Given the description of an element on the screen output the (x, y) to click on. 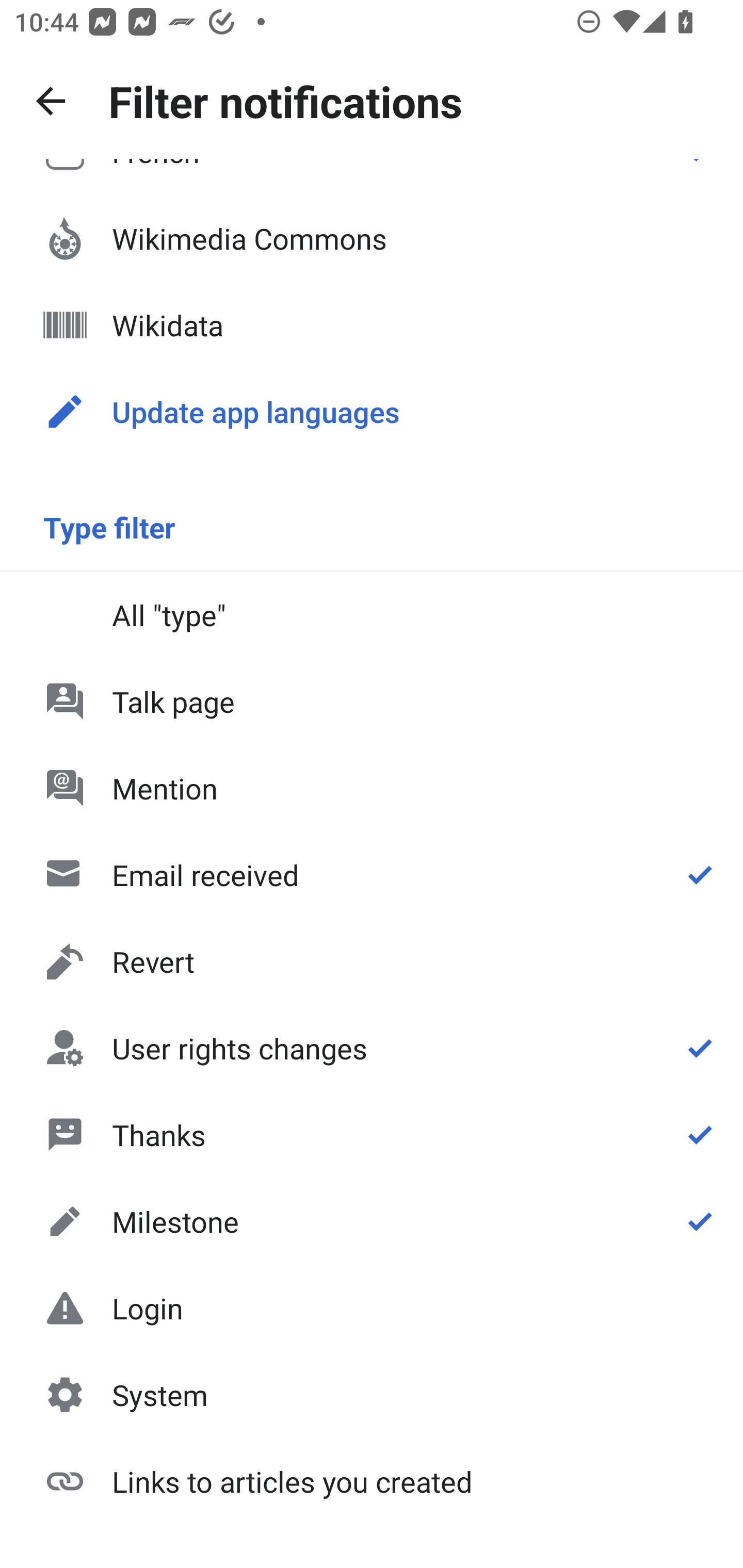
Navigate up (50, 101)
Wikimedia Commons (371, 238)
Wikidata (371, 325)
Update app languages (371, 411)
All "type" (371, 614)
Talk page (371, 701)
Mention (371, 787)
Email received (371, 874)
Revert (371, 961)
User rights changes (371, 1048)
Thanks (371, 1134)
Milestone (371, 1221)
Login (371, 1308)
System (371, 1394)
Links to articles you created (371, 1480)
